Given the description of an element on the screen output the (x, y) to click on. 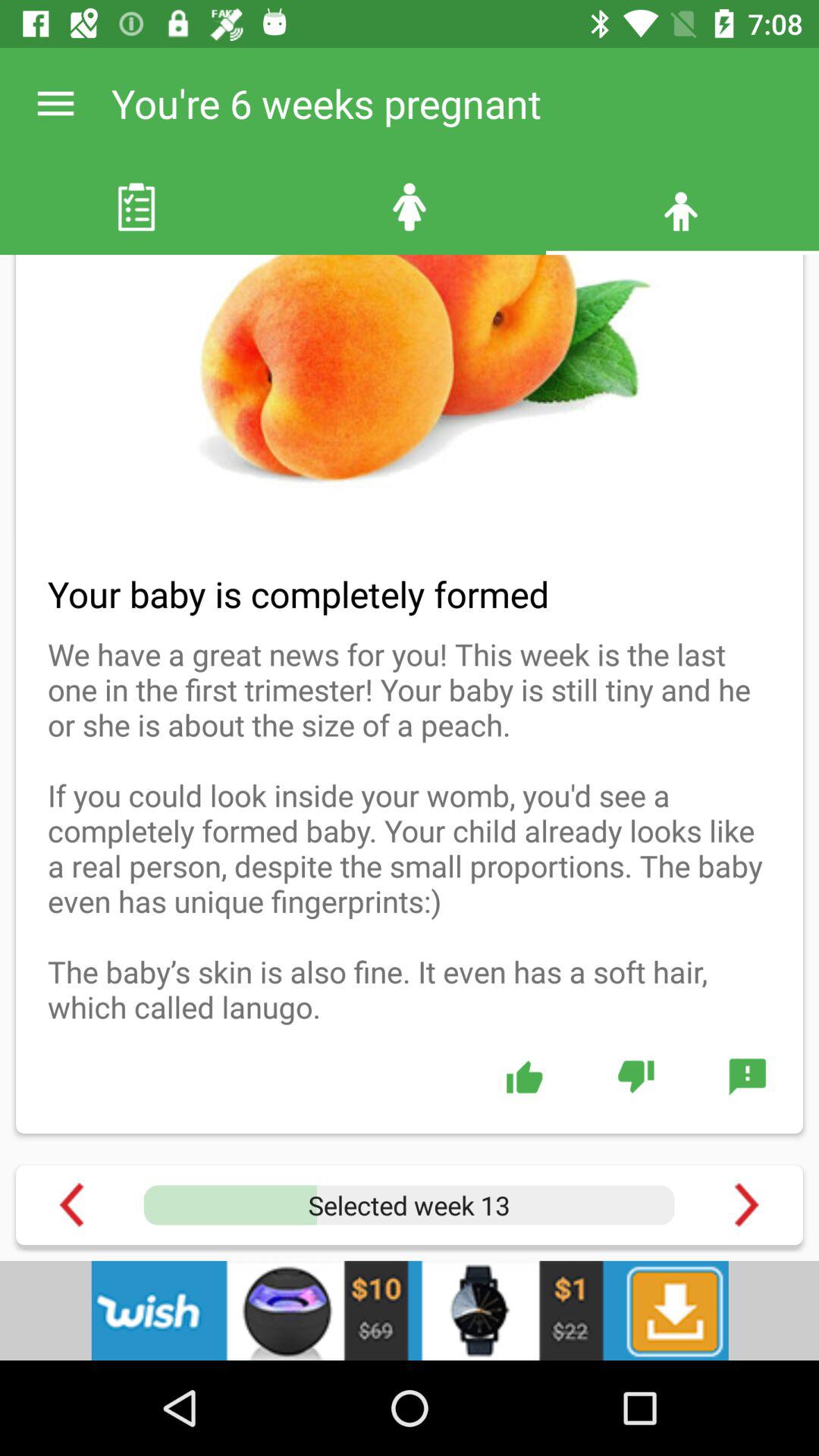
adverdisement page (409, 1310)
